Given the description of an element on the screen output the (x, y) to click on. 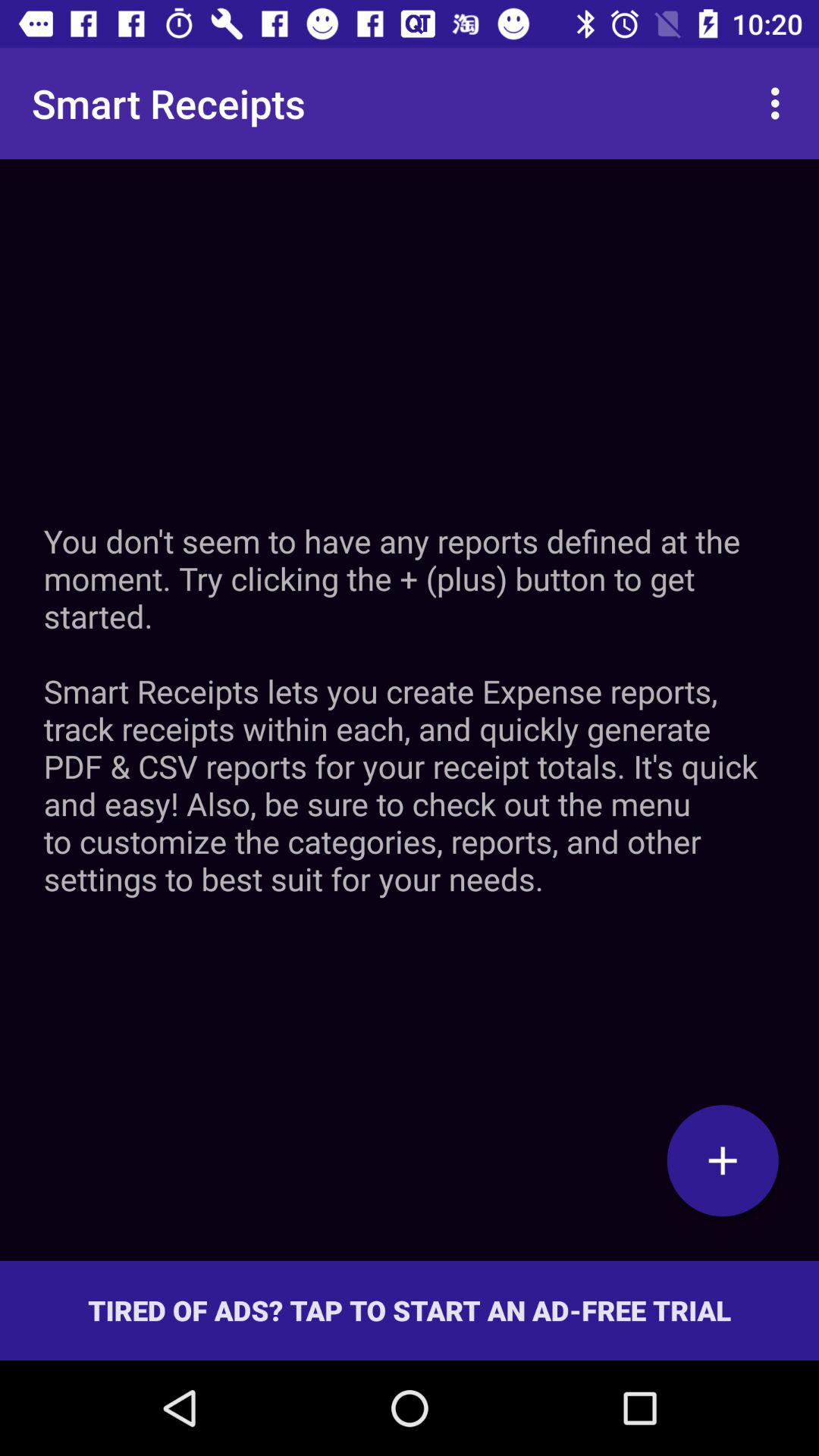
choose the item at the top right corner (779, 103)
